Given the description of an element on the screen output the (x, y) to click on. 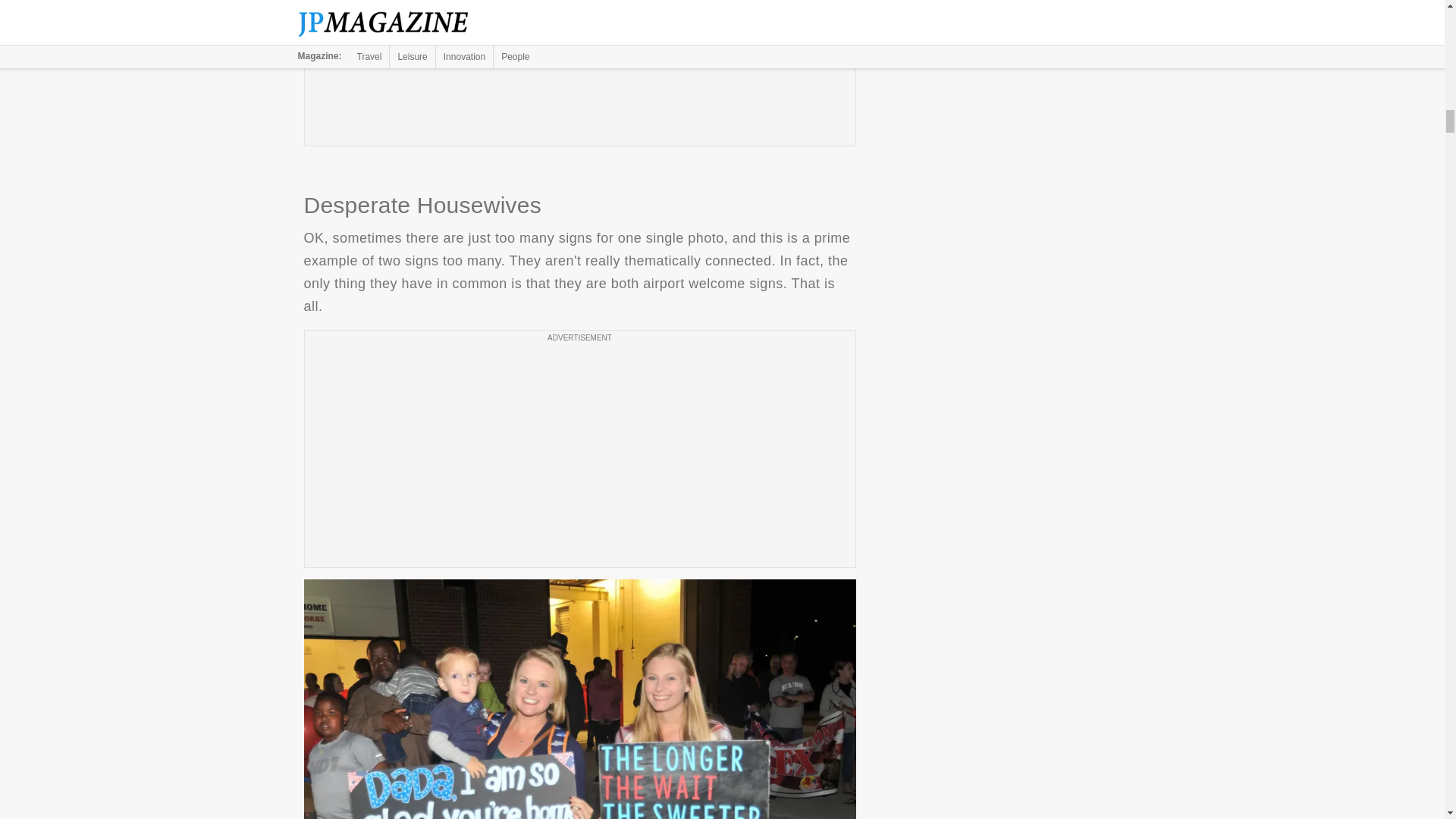
Desperate Housewives (579, 699)
